Given the description of an element on the screen output the (x, y) to click on. 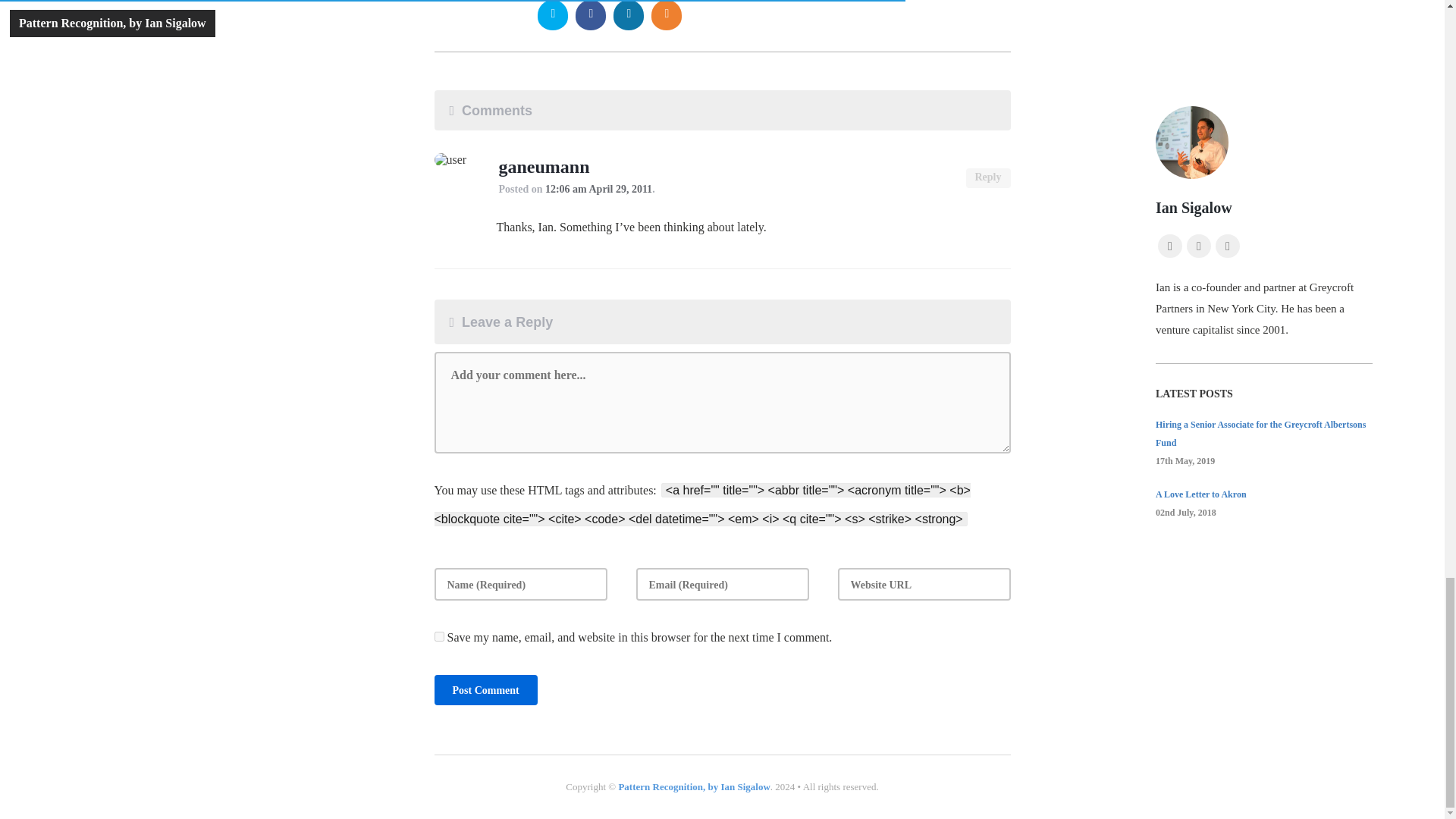
yes (438, 636)
Reply (988, 178)
Post Comment (485, 689)
Post Comment (485, 689)
ganeumann (544, 168)
Pattern Recognition, by Ian Sigalow (693, 787)
